Given the description of an element on the screen output the (x, y) to click on. 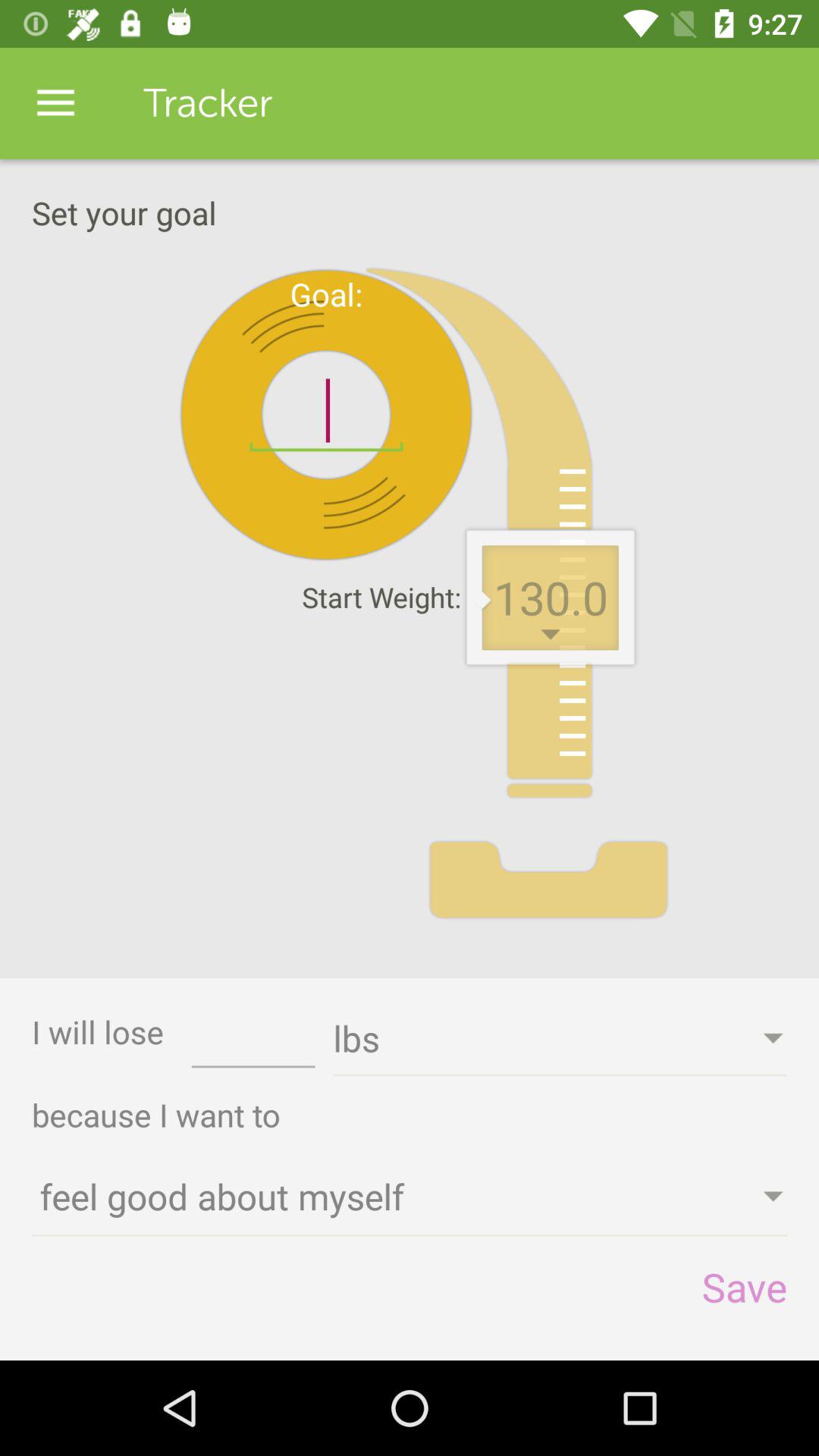
select the icon to the left of lbs icon (253, 1043)
